Given the description of an element on the screen output the (x, y) to click on. 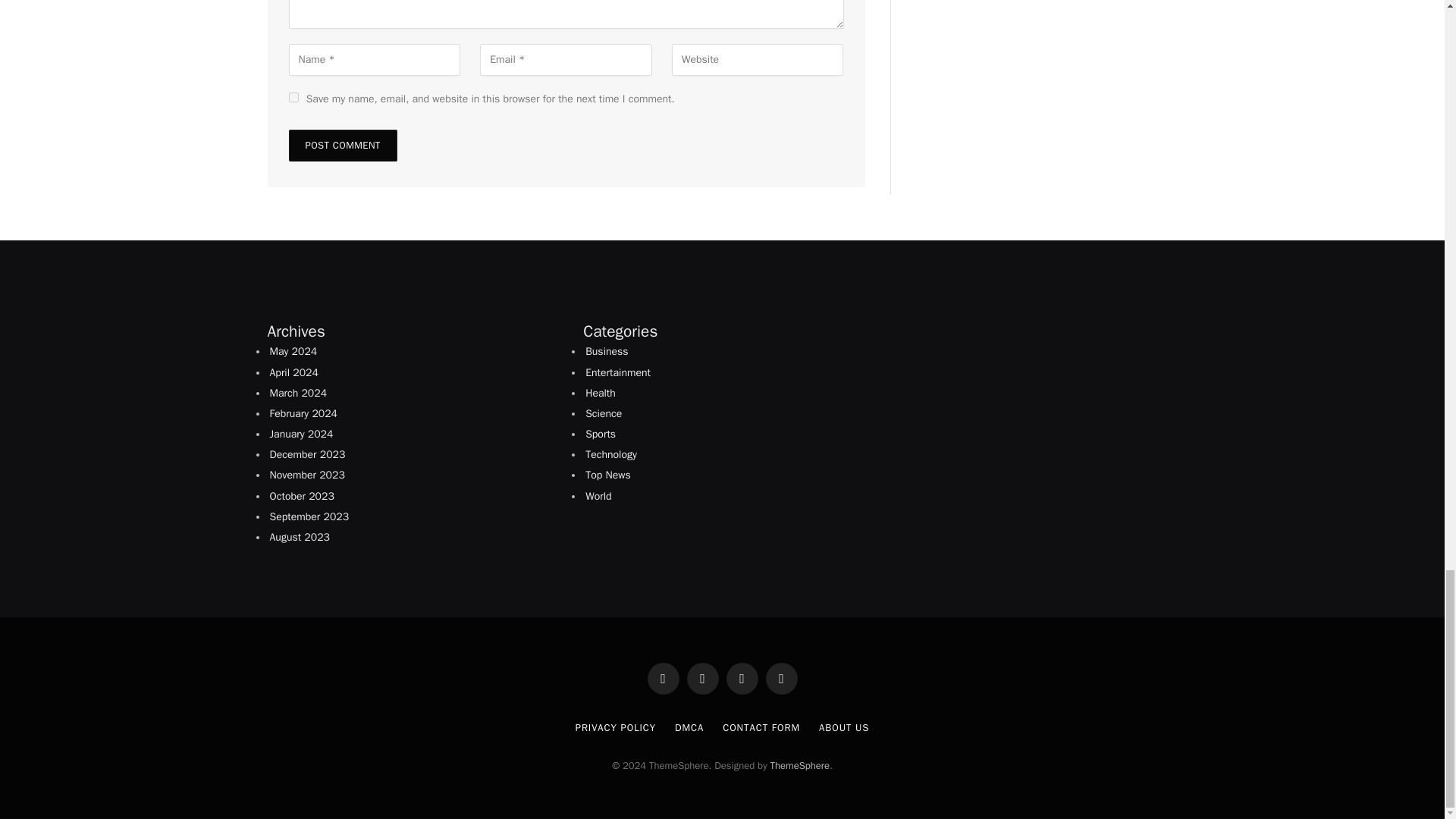
yes (293, 97)
Post Comment (342, 145)
